Given the description of an element on the screen output the (x, y) to click on. 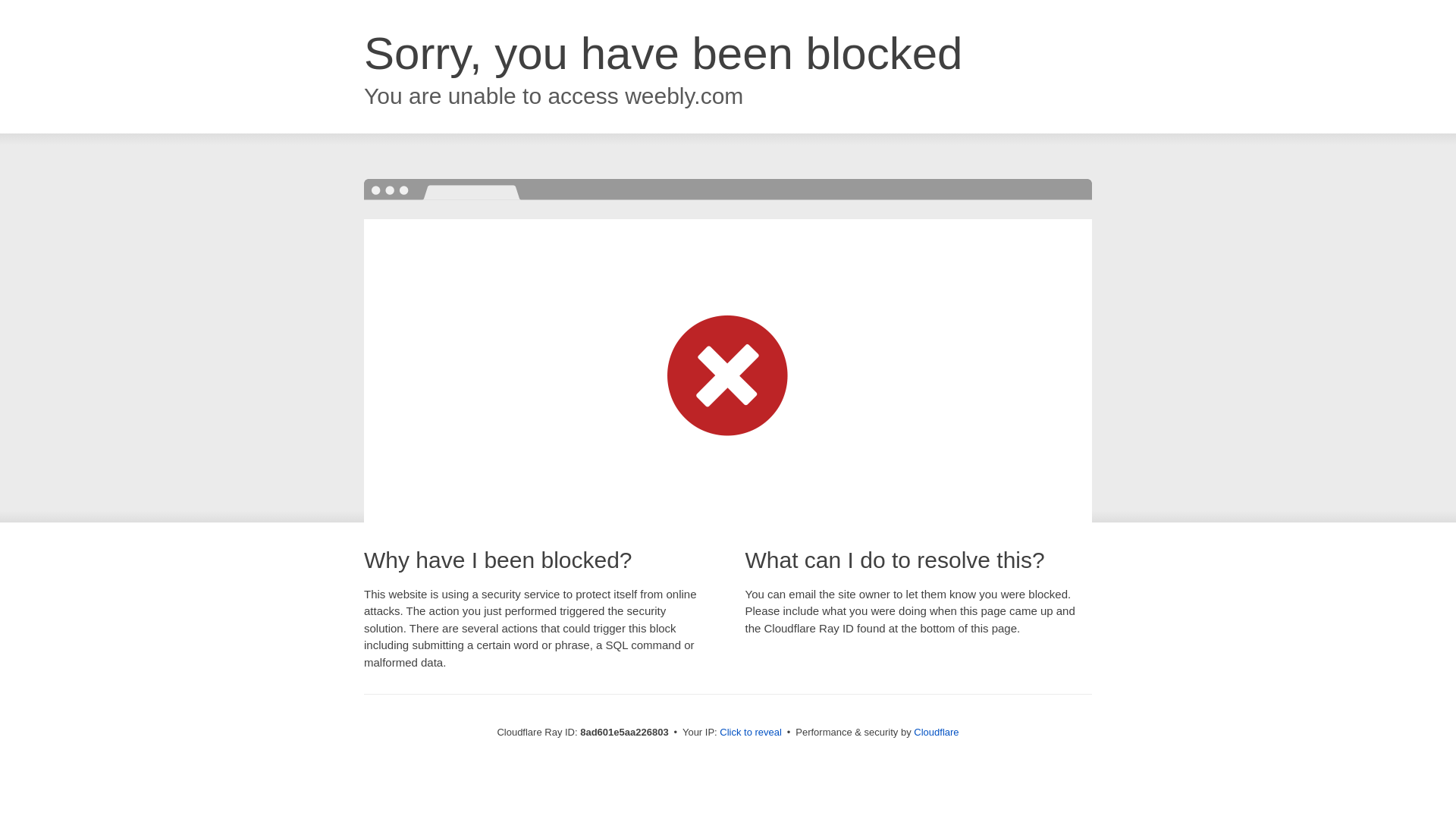
Click to reveal (750, 732)
Cloudflare (936, 731)
